Given the description of an element on the screen output the (x, y) to click on. 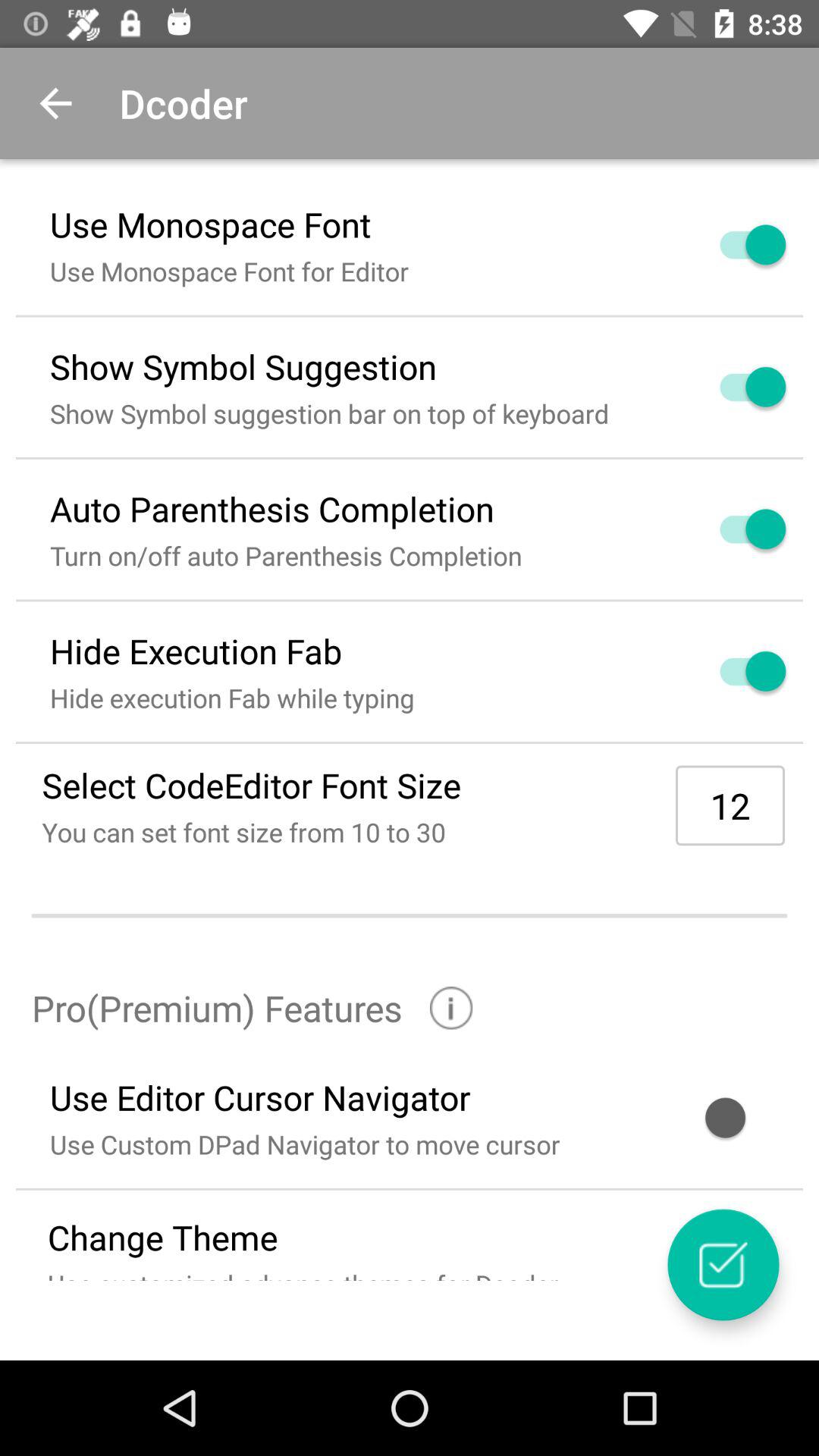
toggle hide execution fab (734, 671)
